Given the description of an element on the screen output the (x, y) to click on. 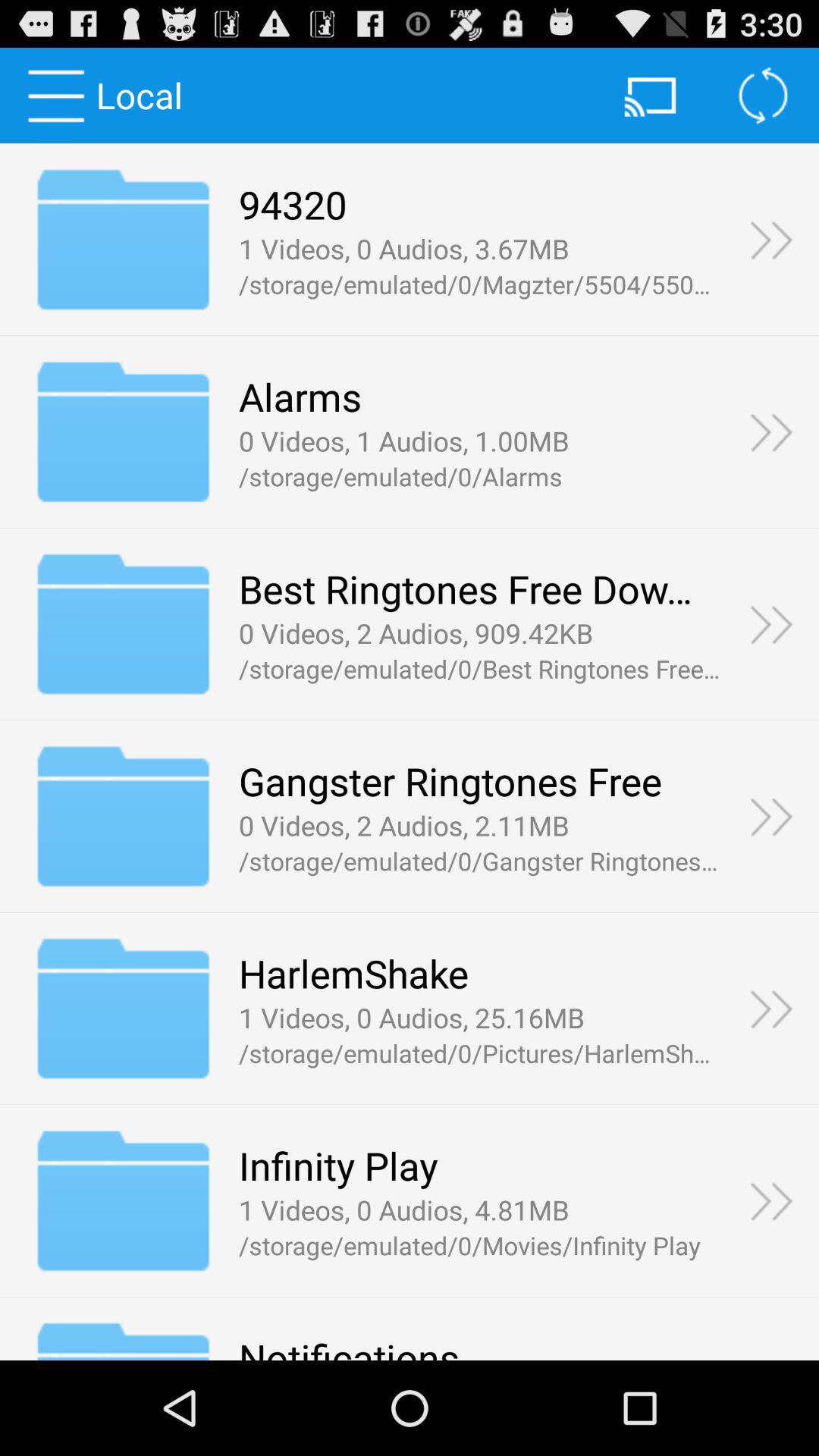
flip to notifications app (348, 1346)
